Given the description of an element on the screen output the (x, y) to click on. 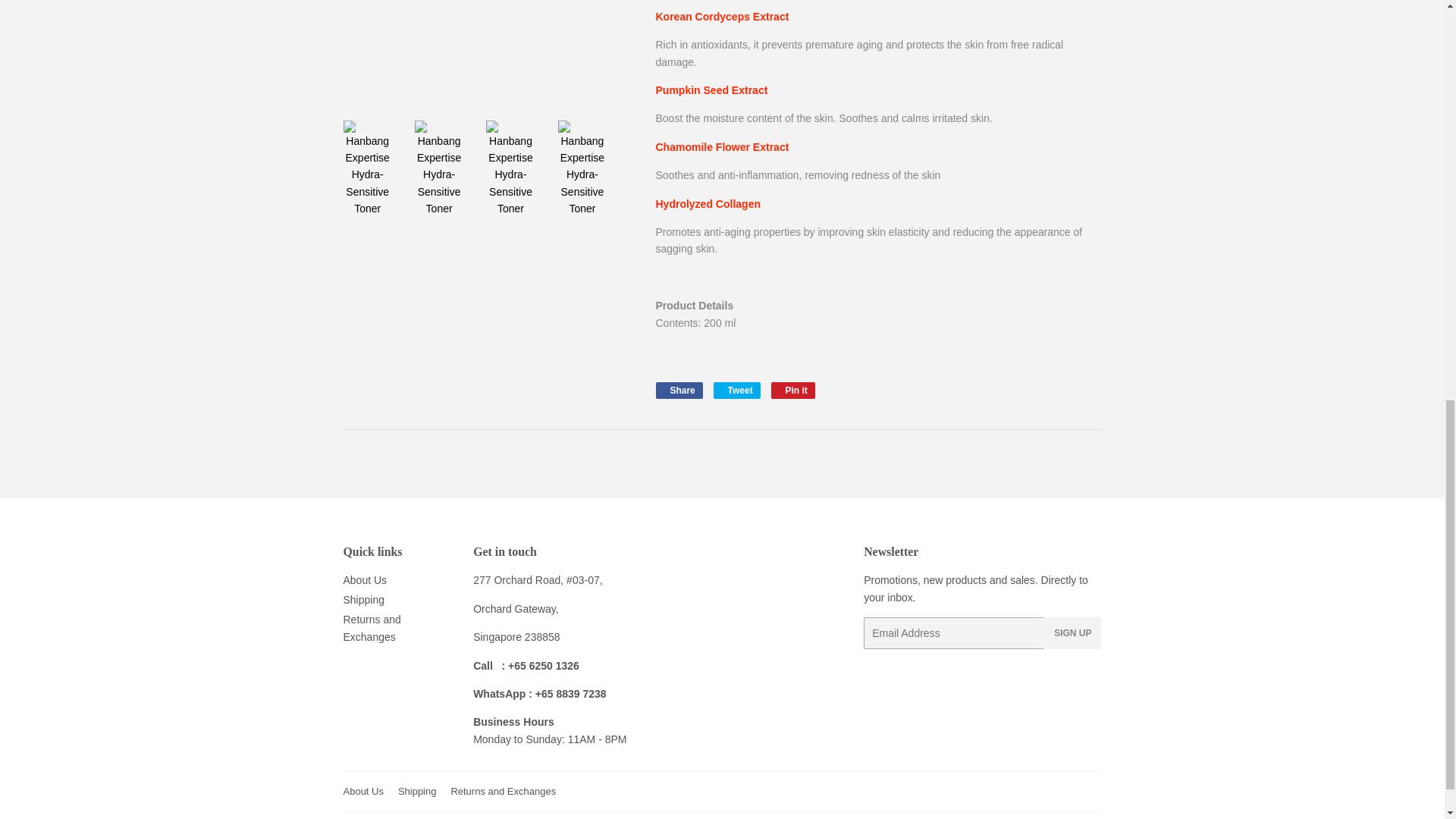
Pin on Pinterest (793, 390)
Share on Facebook (678, 390)
Tweet on Twitter (736, 390)
